Given the description of an element on the screen output the (x, y) to click on. 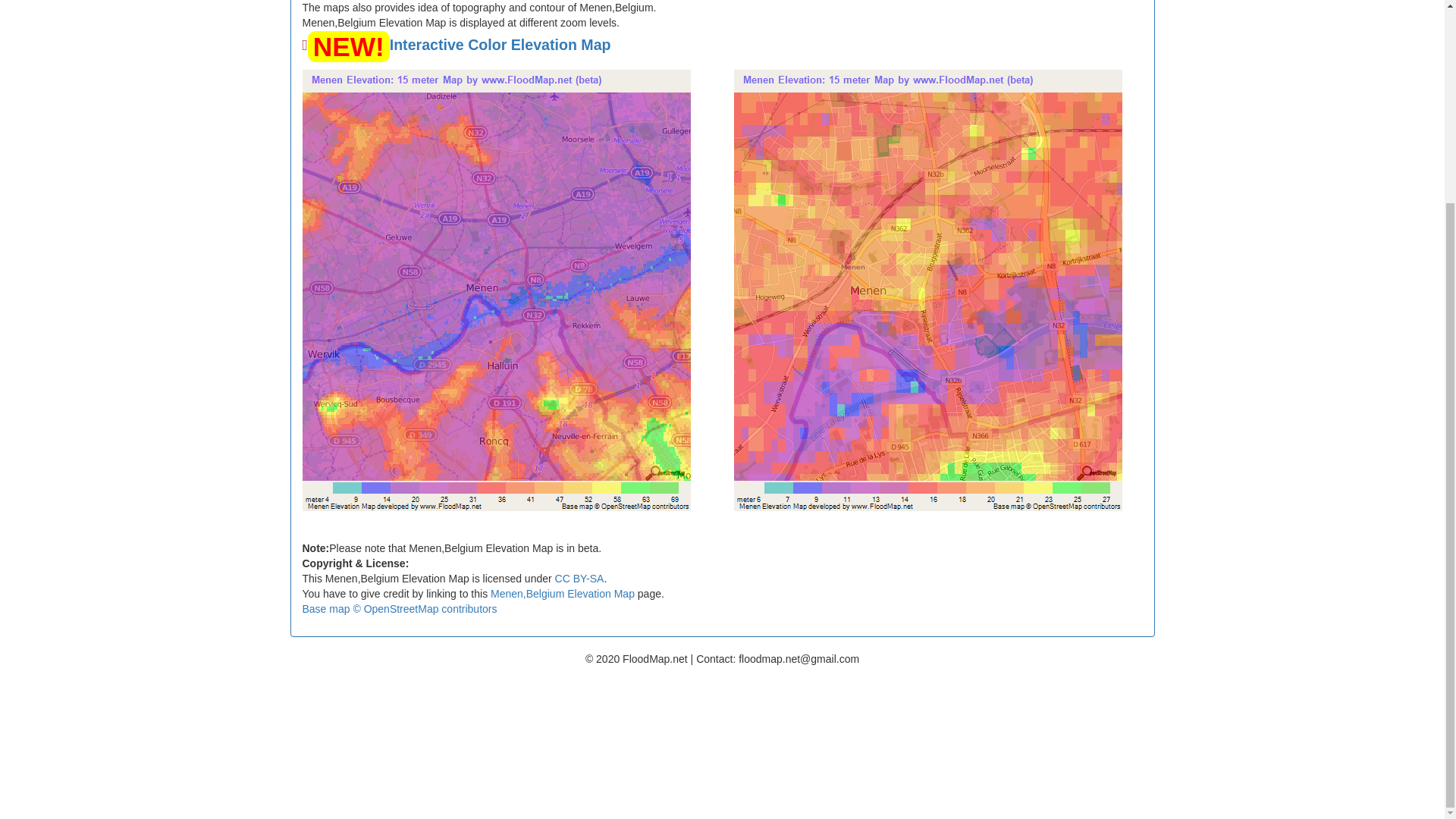
CC BY-SA (579, 578)
Interactive Color Elevation Map (500, 44)
Menen,Belgium Elevation Map (562, 593)
